Given the description of an element on the screen output the (x, y) to click on. 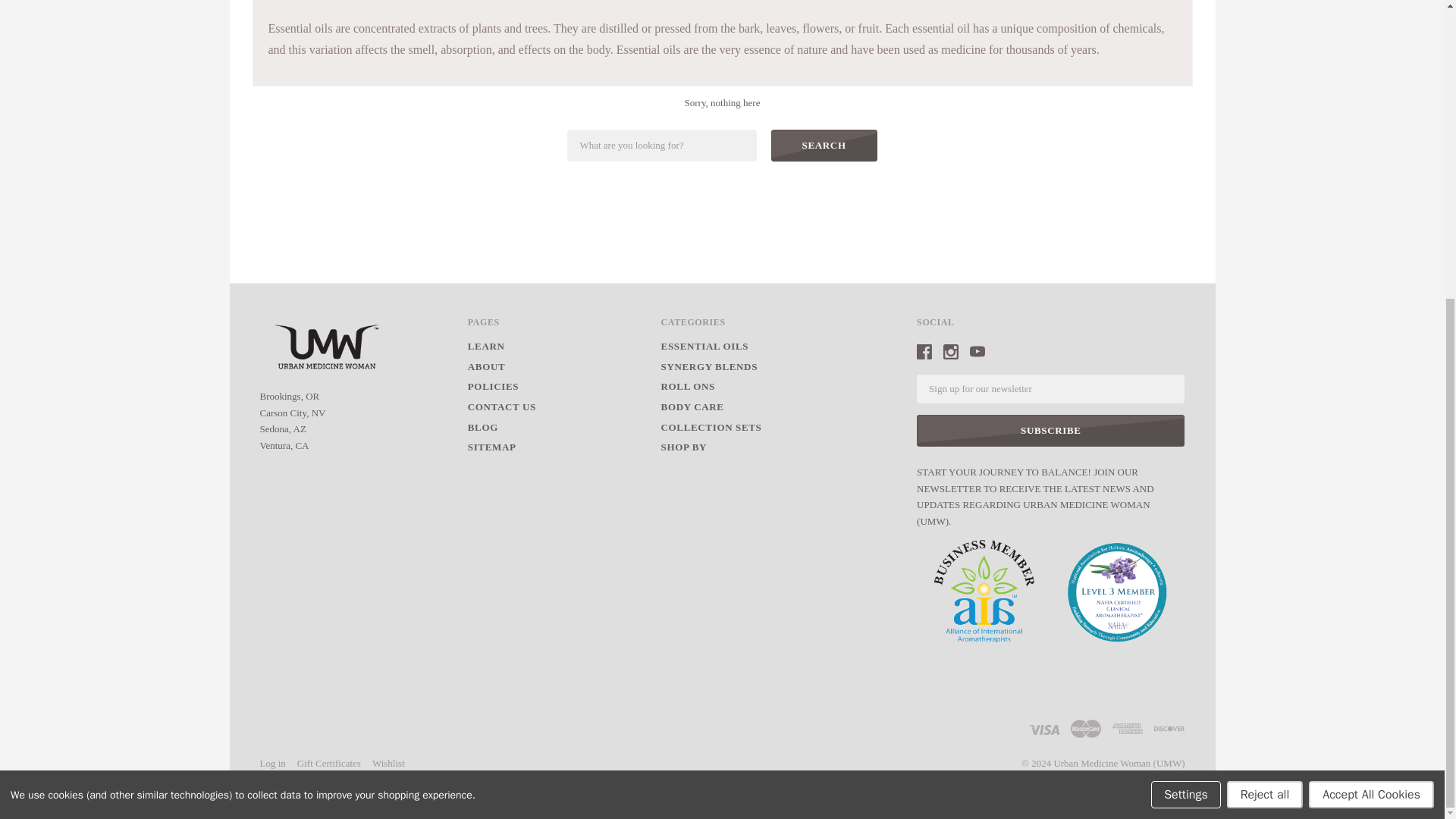
Subscribe (1051, 430)
